Given the description of an element on the screen output the (x, y) to click on. 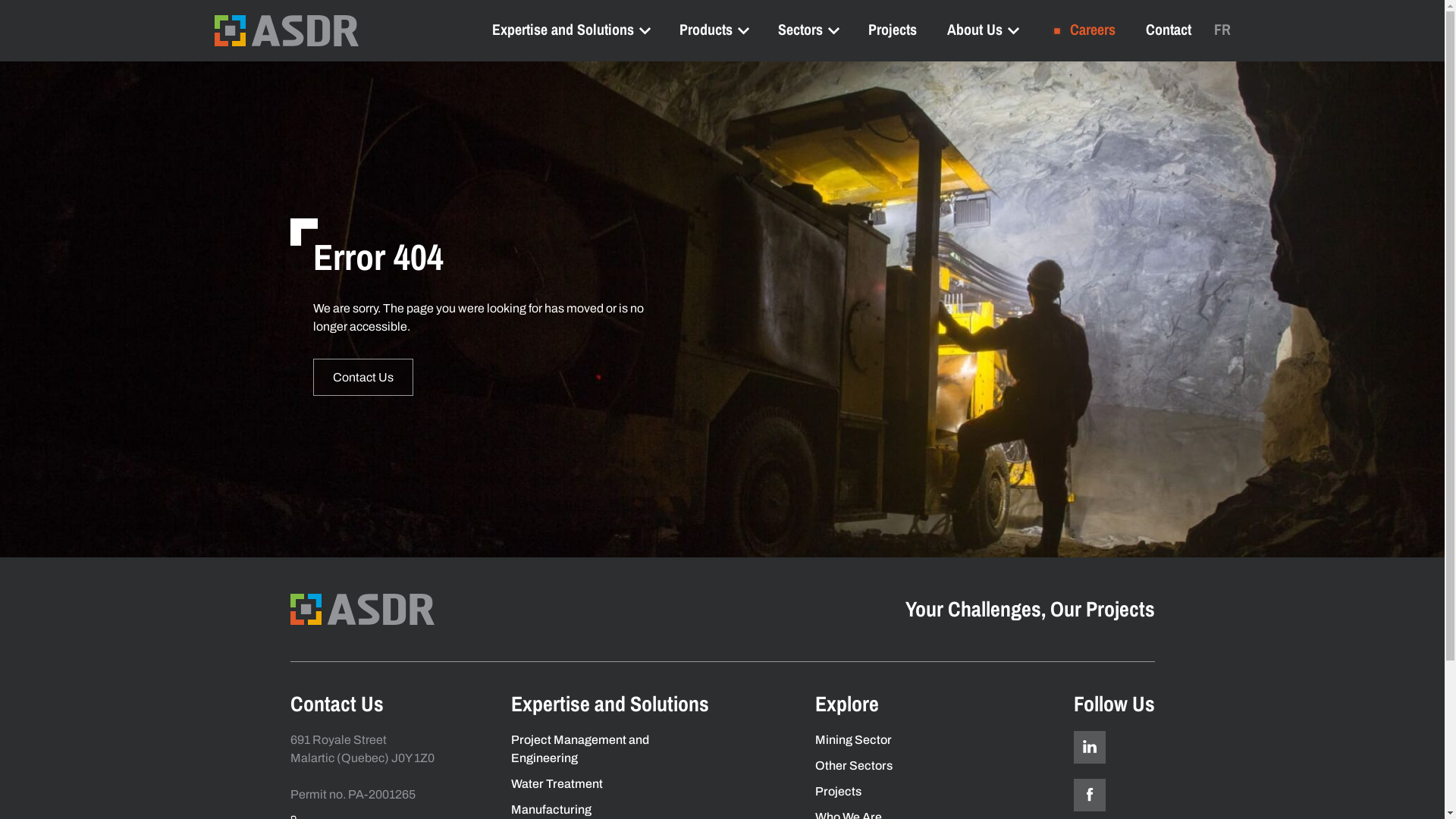
Expertise and Solutions Element type: text (569, 28)
Sectors Element type: text (807, 28)
Projects Element type: text (891, 28)
Project Management and Engineering Element type: text (580, 748)
Manufacturing Element type: text (551, 809)
Contact Element type: text (1167, 28)
Projects Element type: text (837, 790)
Mining Sector Element type: text (852, 739)
About Us Element type: text (981, 28)
Water Treatment Element type: text (556, 783)
Contact Us Element type: text (362, 376)
Products Element type: text (713, 28)
FR Element type: text (1221, 28)
Other Sectors Element type: text (852, 765)
